Given the description of an element on the screen output the (x, y) to click on. 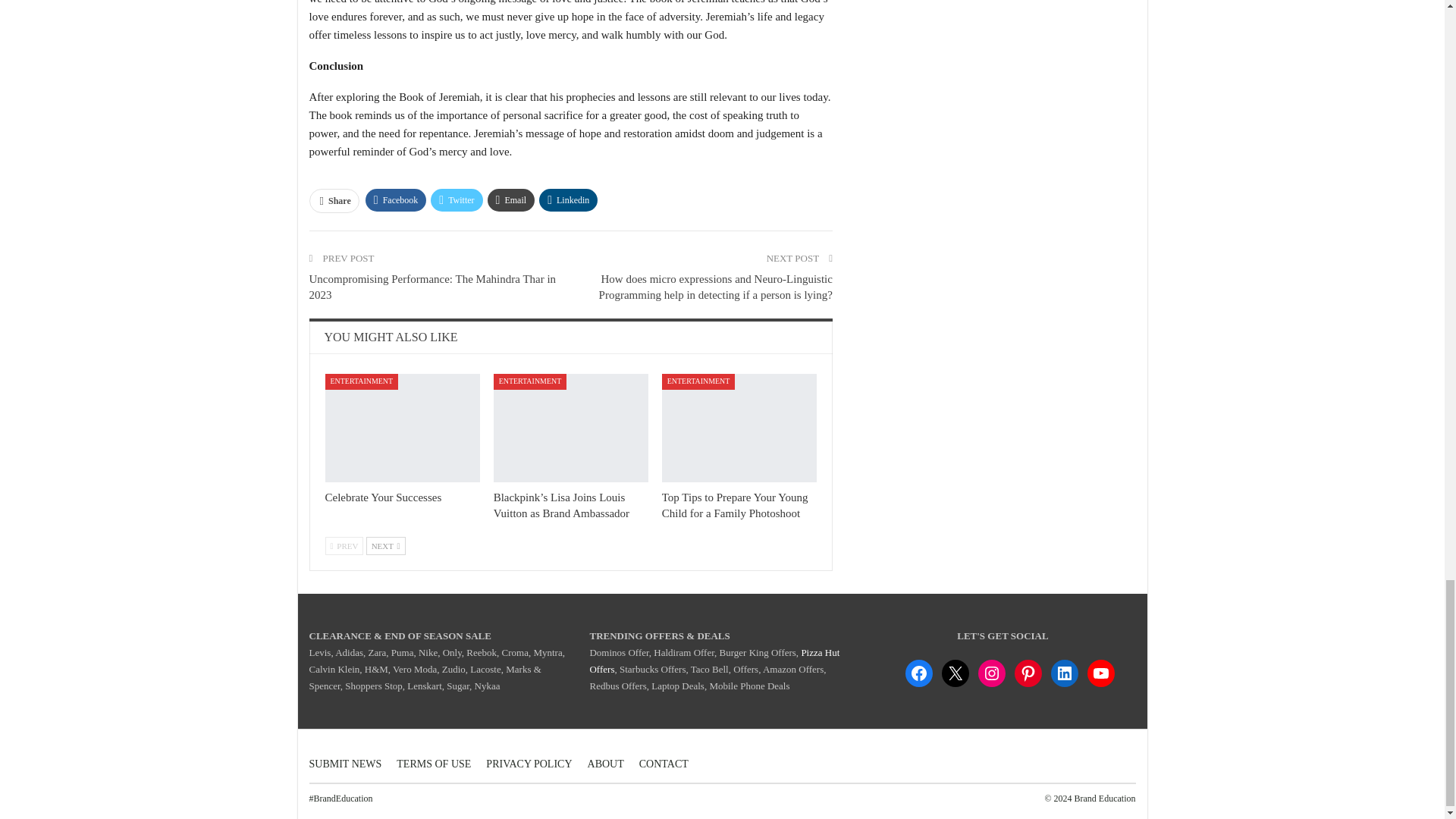
Next (386, 546)
Top Tips to Prepare Your Young Child for a Family Photoshoot (735, 505)
Twitter (455, 200)
Facebook (395, 200)
ENTERTAINMENT (530, 381)
Previous (343, 546)
Linkedin (567, 200)
Celebrate Your Successes (401, 427)
Celebrate Your Successes (382, 497)
Uncompromising Performance: The Mahindra Thar in 2023 (432, 286)
ENTERTAINMENT (360, 381)
Email (511, 200)
Top Tips to Prepare Your Young Child for a Family Photoshoot (735, 505)
Top Tips to Prepare Your Young Child for a Family Photoshoot (739, 427)
